Given the description of an element on the screen output the (x, y) to click on. 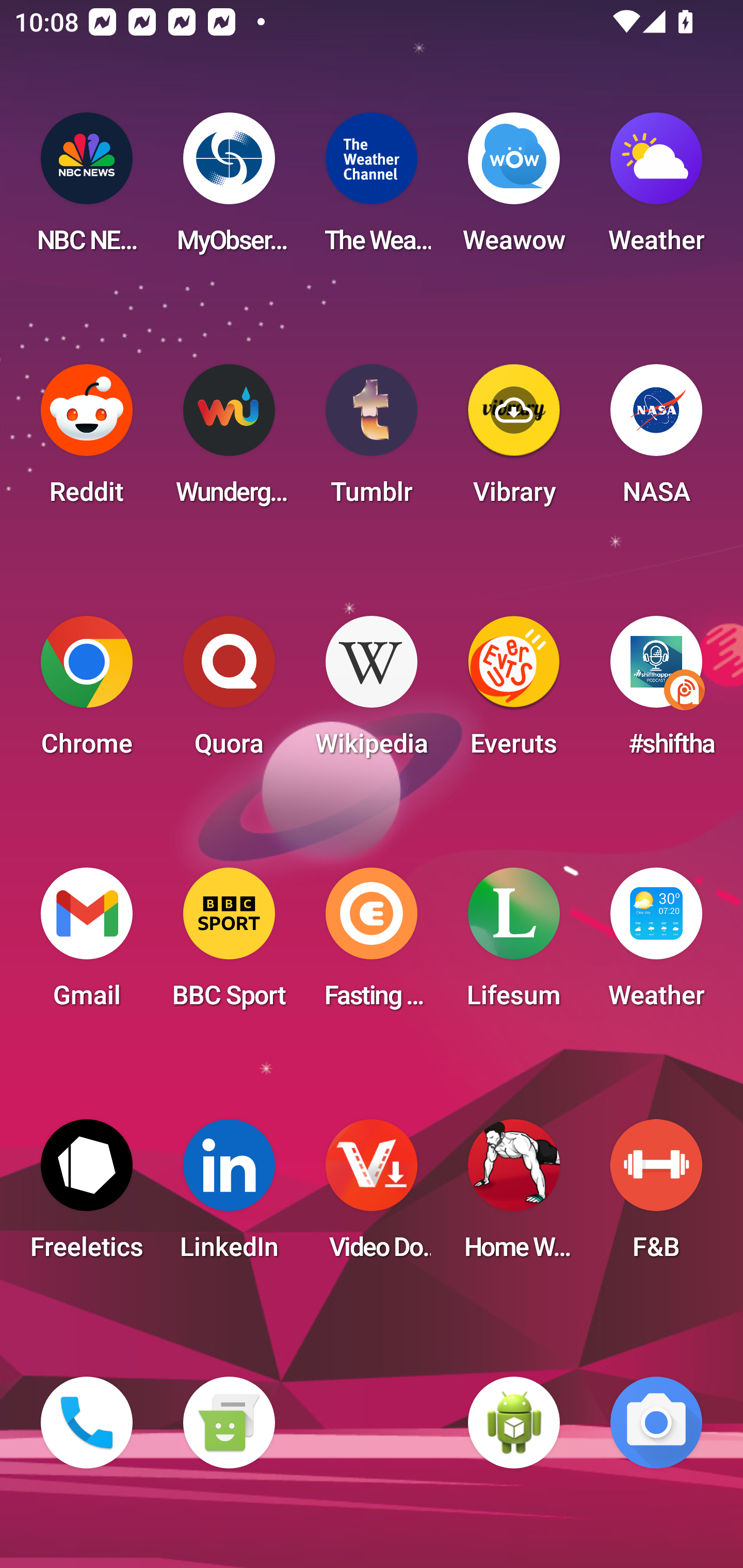
NBC NEWS (86, 188)
MyObservatory (228, 188)
The Weather Channel (371, 188)
Weawow (513, 188)
Weather (656, 188)
Reddit (86, 440)
Wunderground (228, 440)
Tumblr (371, 440)
Vibrary (513, 440)
NASA (656, 440)
Chrome (86, 692)
Quora (228, 692)
Wikipedia (371, 692)
Everuts (513, 692)
#shifthappens in the Digital Workplace Podcast (656, 692)
Gmail (86, 943)
BBC Sport (228, 943)
Fasting Coach (371, 943)
Lifesum (513, 943)
Weather (656, 943)
Freeletics (86, 1195)
LinkedIn (228, 1195)
Video Downloader & Ace Player (371, 1195)
Home Workout (513, 1195)
F&B (656, 1195)
Phone (86, 1422)
Messaging (228, 1422)
WebView Browser Tester (513, 1422)
Camera (656, 1422)
